Given the description of an element on the screen output the (x, y) to click on. 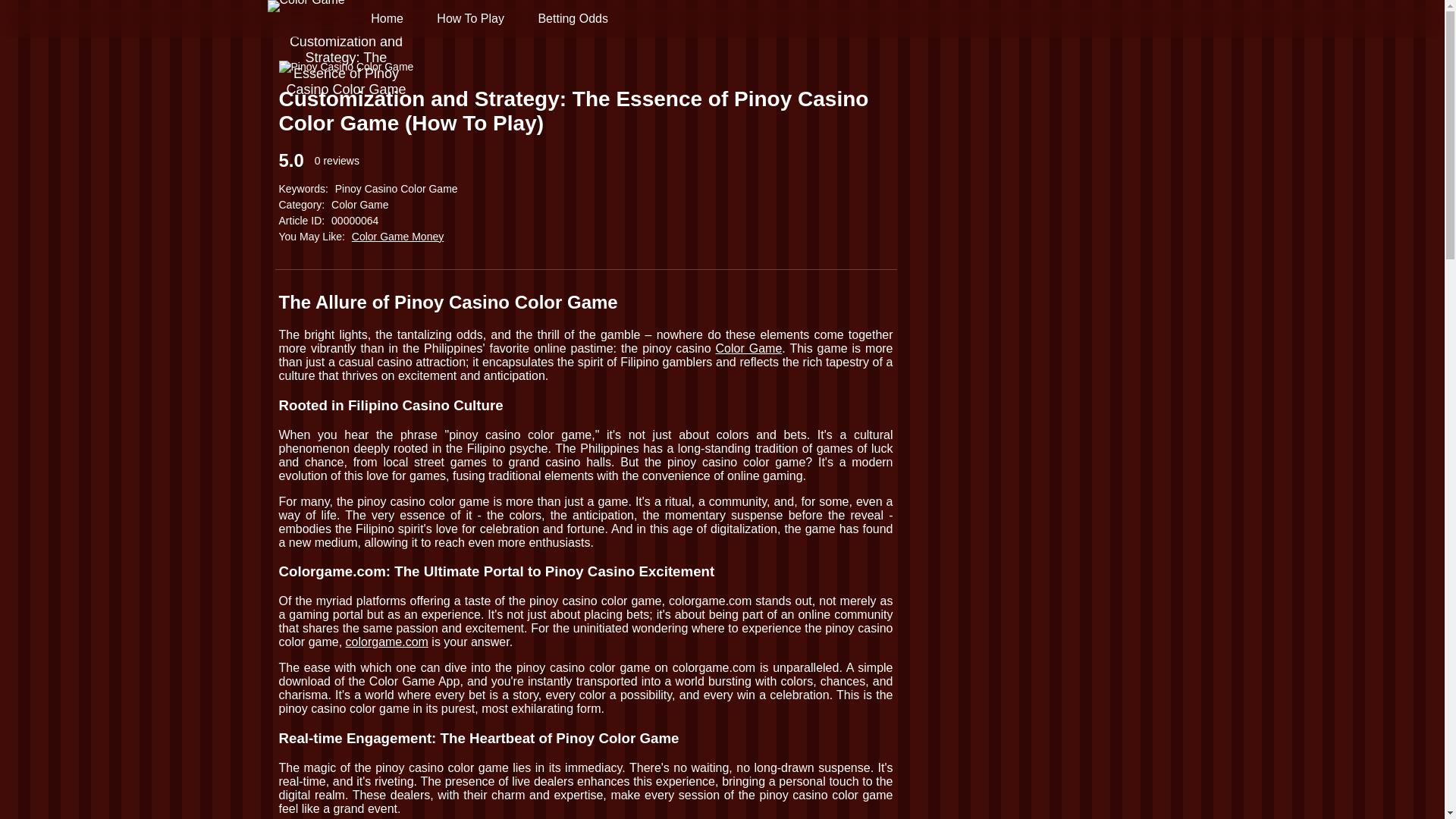
Pinoy Casino Color Game (346, 66)
Color Game (304, 18)
colorgame.com (387, 641)
Color Game (749, 348)
Betting Odds (572, 18)
How To Play (470, 18)
Color Game Money (398, 236)
Home (387, 18)
